Given the description of an element on the screen output the (x, y) to click on. 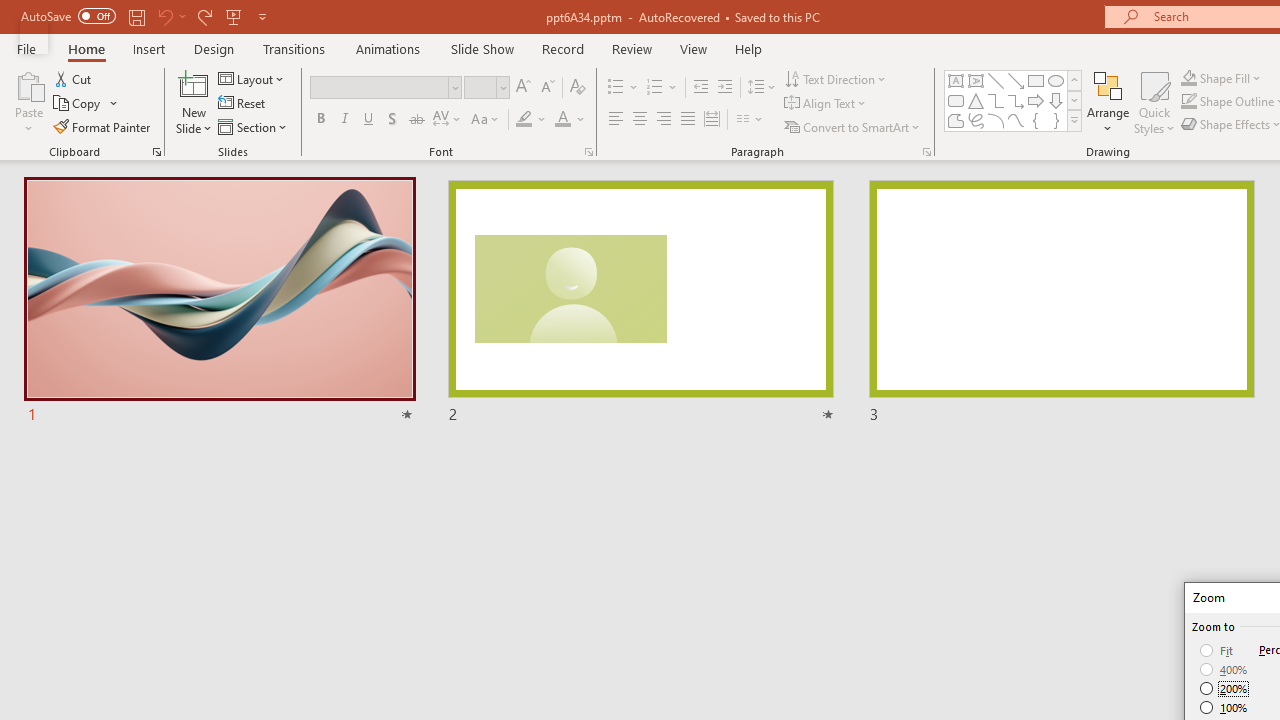
Rectangle (1035, 80)
Character Spacing (447, 119)
Align Right (663, 119)
Decrease Font Size (547, 87)
Arrow: Down (1055, 100)
Clear Formatting (577, 87)
Justify (687, 119)
